Given the description of an element on the screen output the (x, y) to click on. 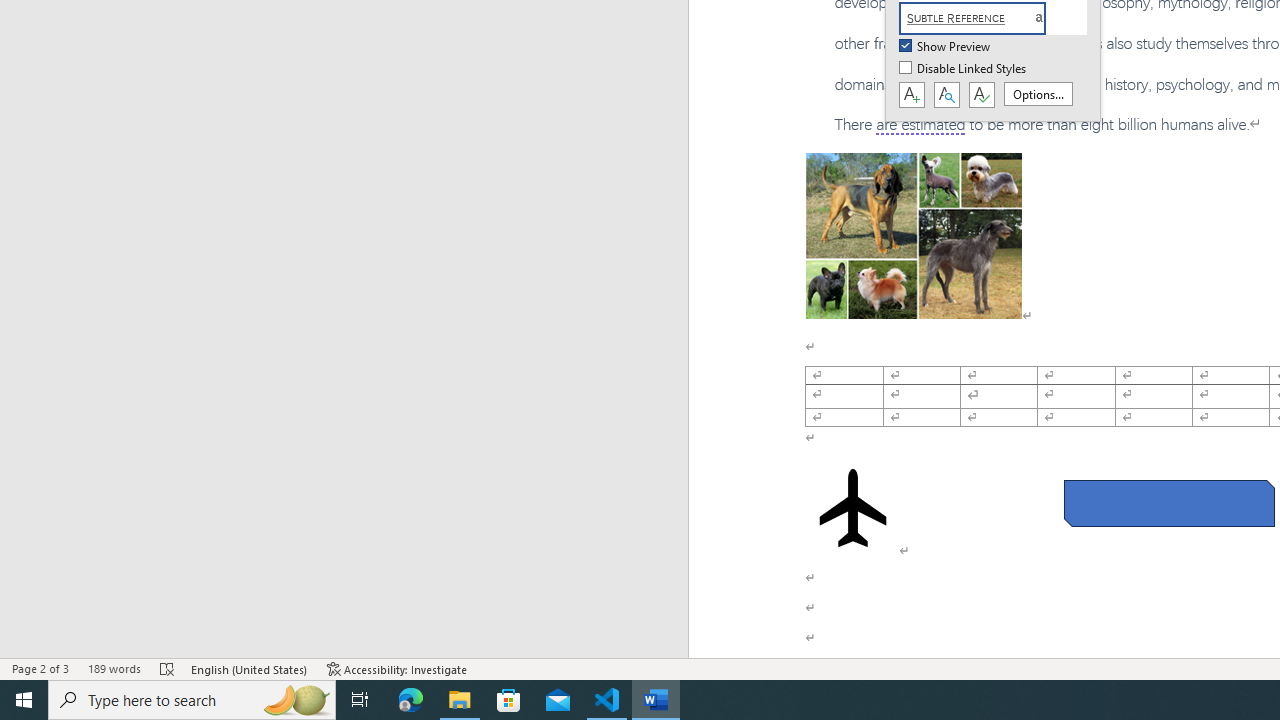
Subtle Reference (984, 18)
Morphological variation in six dogs (913, 235)
Page Number Page 2 of 3 (39, 668)
Spelling and Grammar Check Errors (168, 668)
Options... (1037, 93)
Class: NetUIImage (971, 18)
Rectangle: Diagonal Corners Snipped 2 (1168, 503)
Show Preview (946, 47)
Accessibility Checker Accessibility: Investigate (397, 668)
Airplane with solid fill (852, 507)
Language English (United States) (250, 668)
Disable Linked Styles (964, 69)
Class: NetUIButton (981, 95)
